Given the description of an element on the screen output the (x, y) to click on. 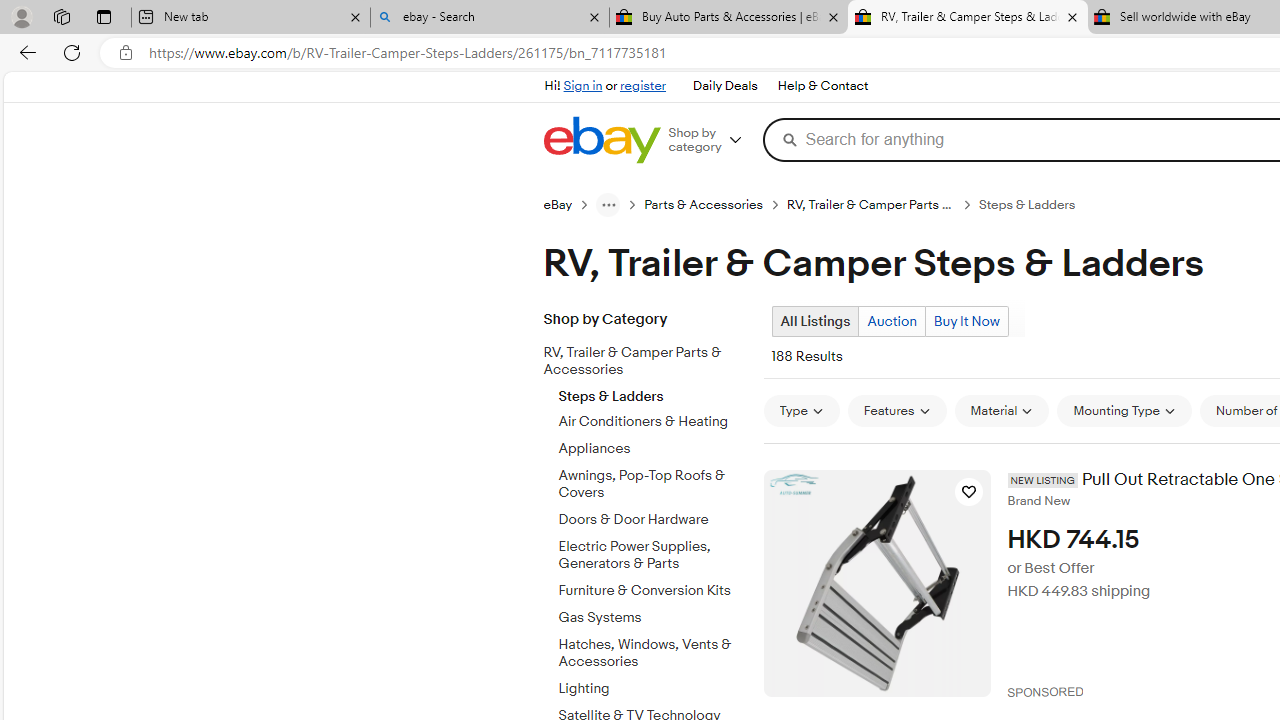
Features (897, 410)
Buy Auto Parts & Accessories | eBay (729, 17)
